Given the description of an element on the screen output the (x, y) to click on. 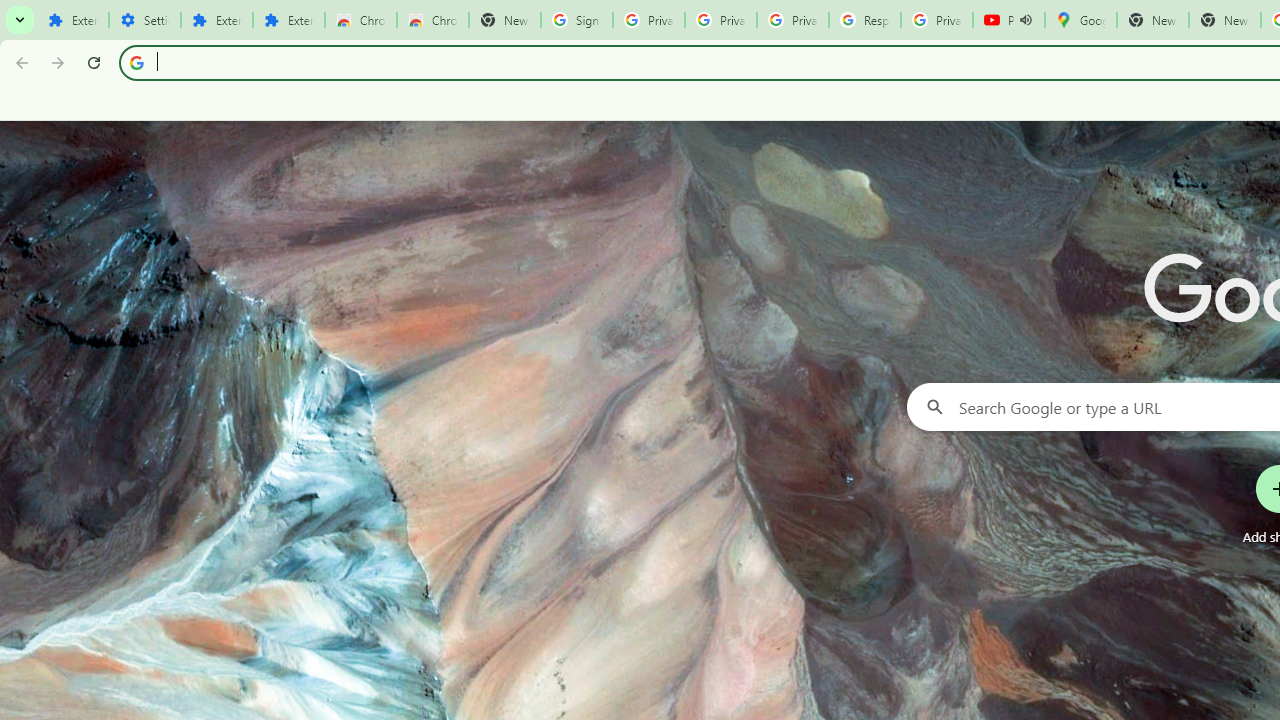
Extensions (216, 20)
Chrome Web Store (360, 20)
Settings (144, 20)
Sign in - Google Accounts (577, 20)
New Tab (1224, 20)
New Tab (504, 20)
